Given the description of an element on the screen output the (x, y) to click on. 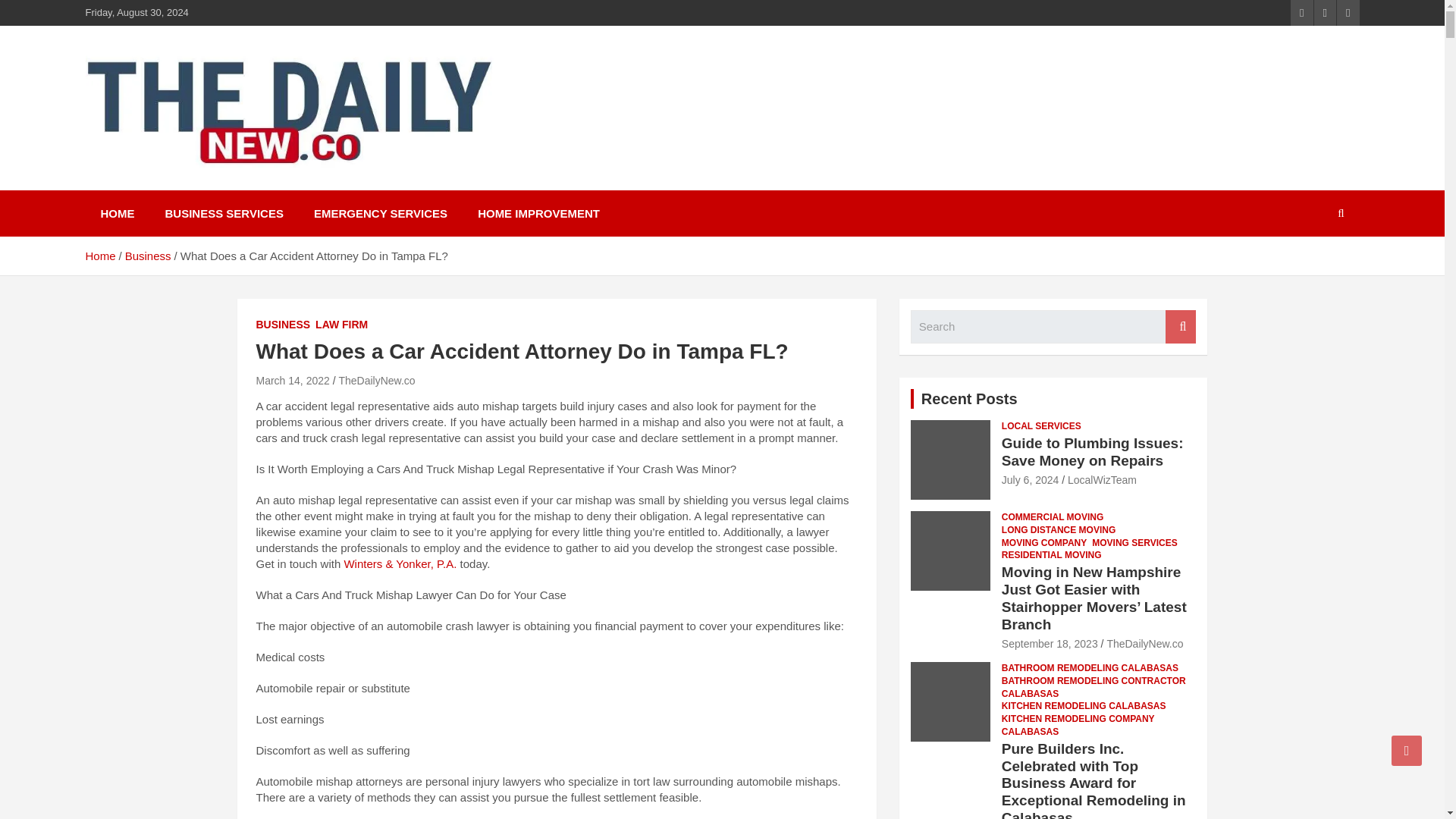
March 14, 2022 (293, 380)
LONG DISTANCE MOVING (1058, 530)
TheDailyNew.co (375, 380)
July 6, 2024 (1030, 480)
TheDailyNew (178, 186)
LocalWizTeam (1102, 480)
Recent Posts (969, 398)
Guide to Plumbing Issues: Save Money on Repairs (1030, 480)
What Does a Car Accident Attorney Do in Tampa FL? (293, 380)
BUSINESS SERVICES (223, 213)
